Given the description of an element on the screen output the (x, y) to click on. 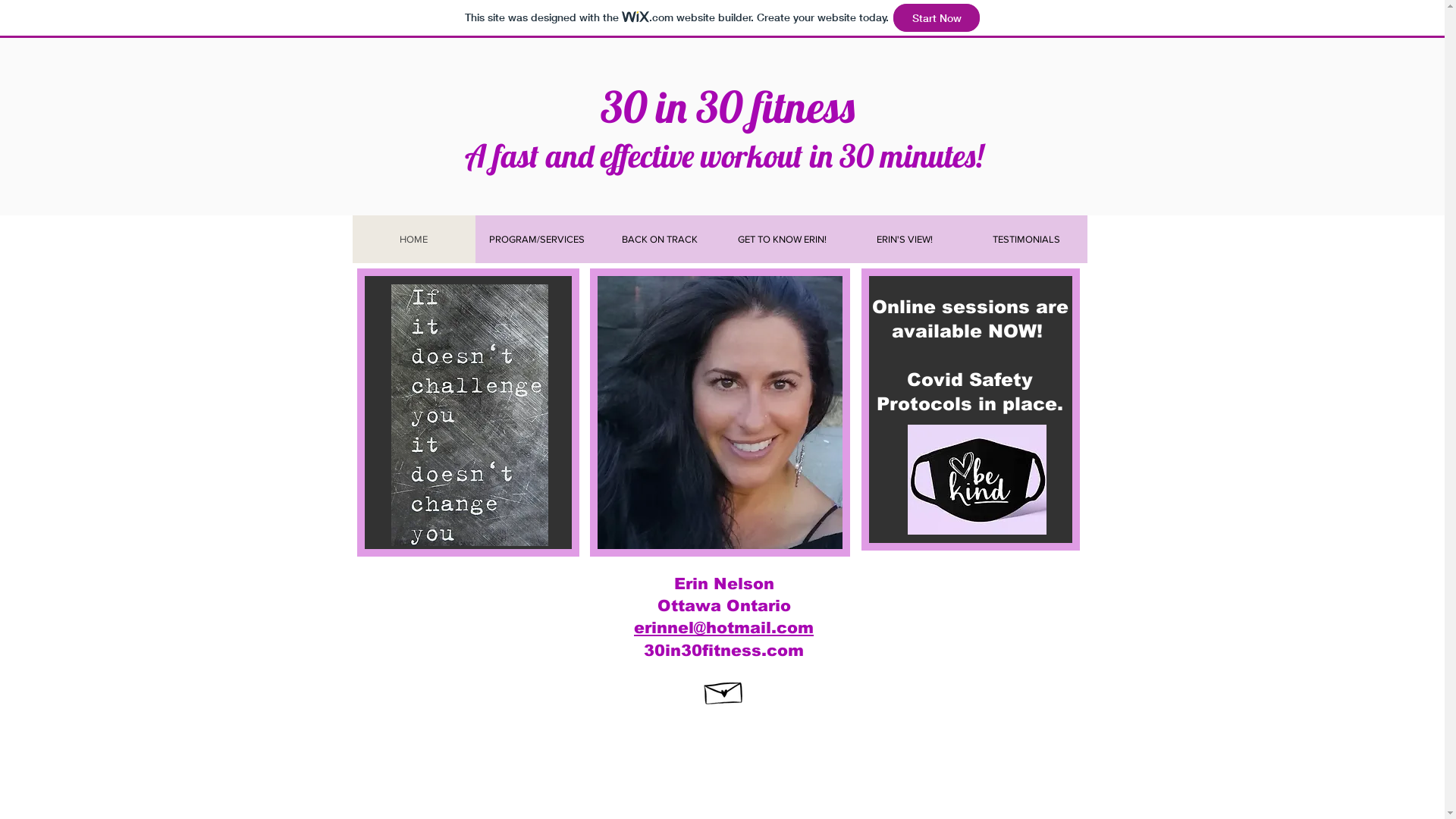
GET TO KNOW ERIN! Element type: text (781, 239)
BACK ON TRACK Element type: text (658, 239)
erinnel@hotmail.com Element type: text (723, 627)
ERIN'S VIEW! Element type: text (904, 239)
PROGRAM/SERVICES Element type: text (535, 239)
HOME Element type: text (412, 239)
Hand drawn envelope Element type: hover (724, 690)
TESTIMONIALS Element type: text (1025, 239)
